Given the description of an element on the screen output the (x, y) to click on. 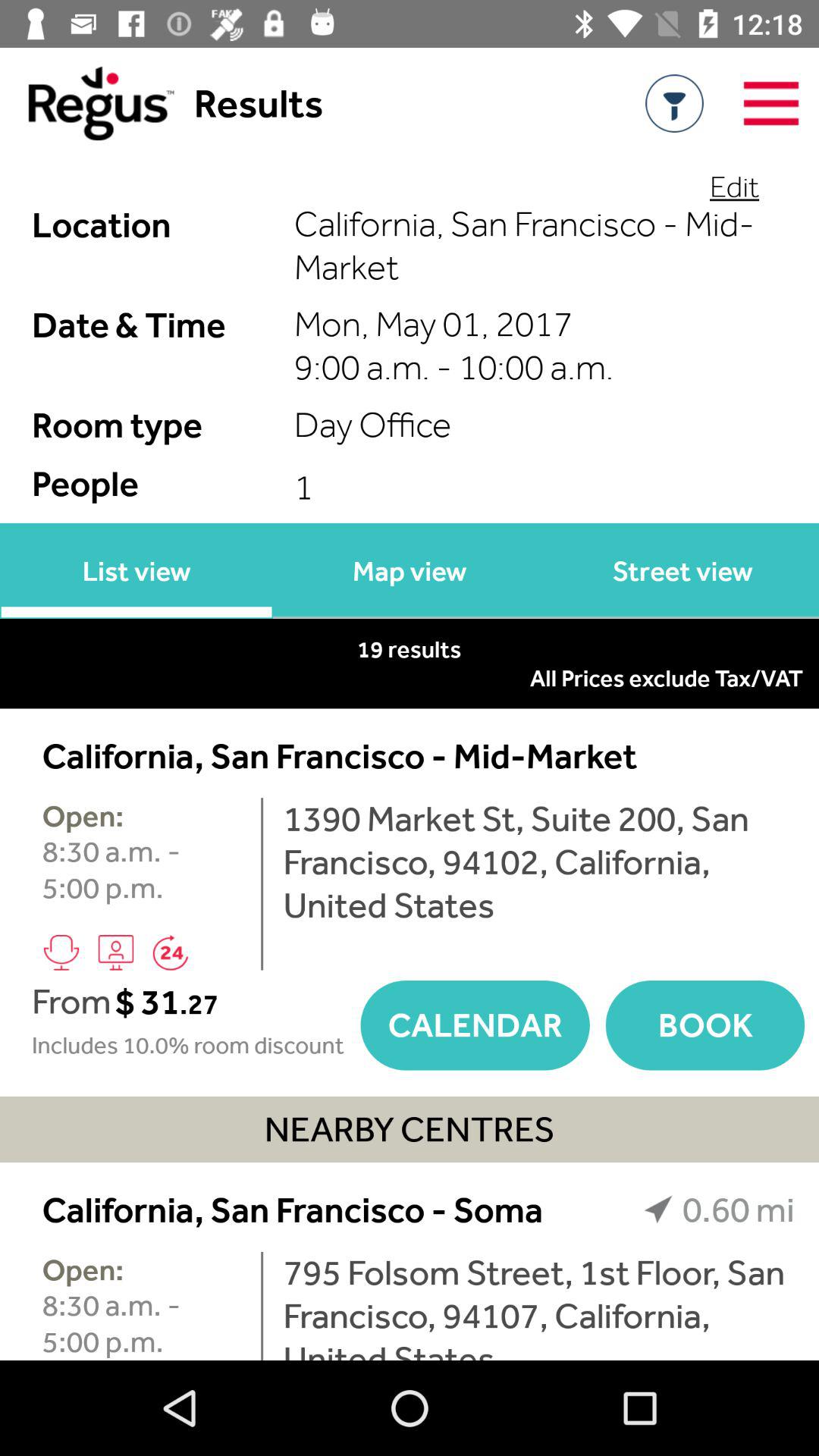
turn on the icon to the left of book icon (474, 1025)
